Given the description of an element on the screen output the (x, y) to click on. 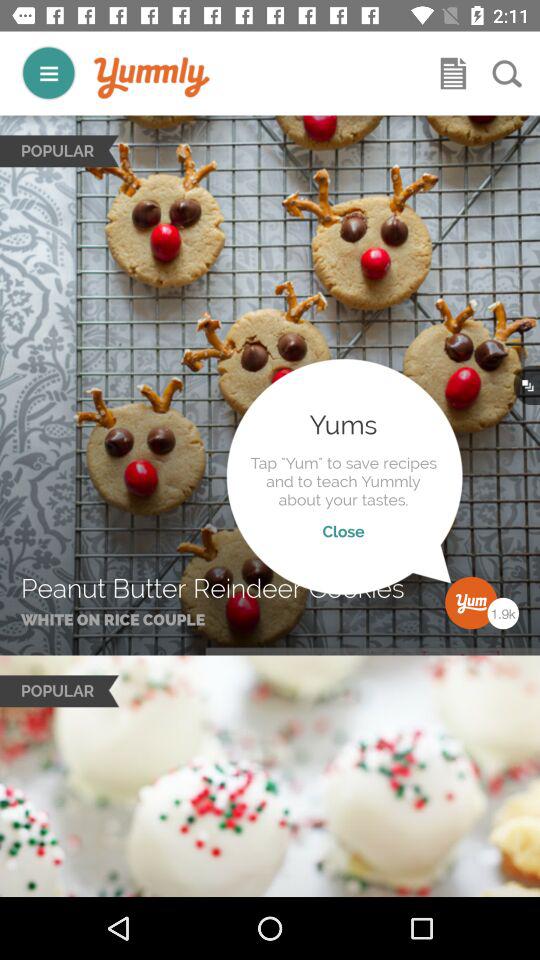
menu button (48, 72)
